Given the description of an element on the screen output the (x, y) to click on. 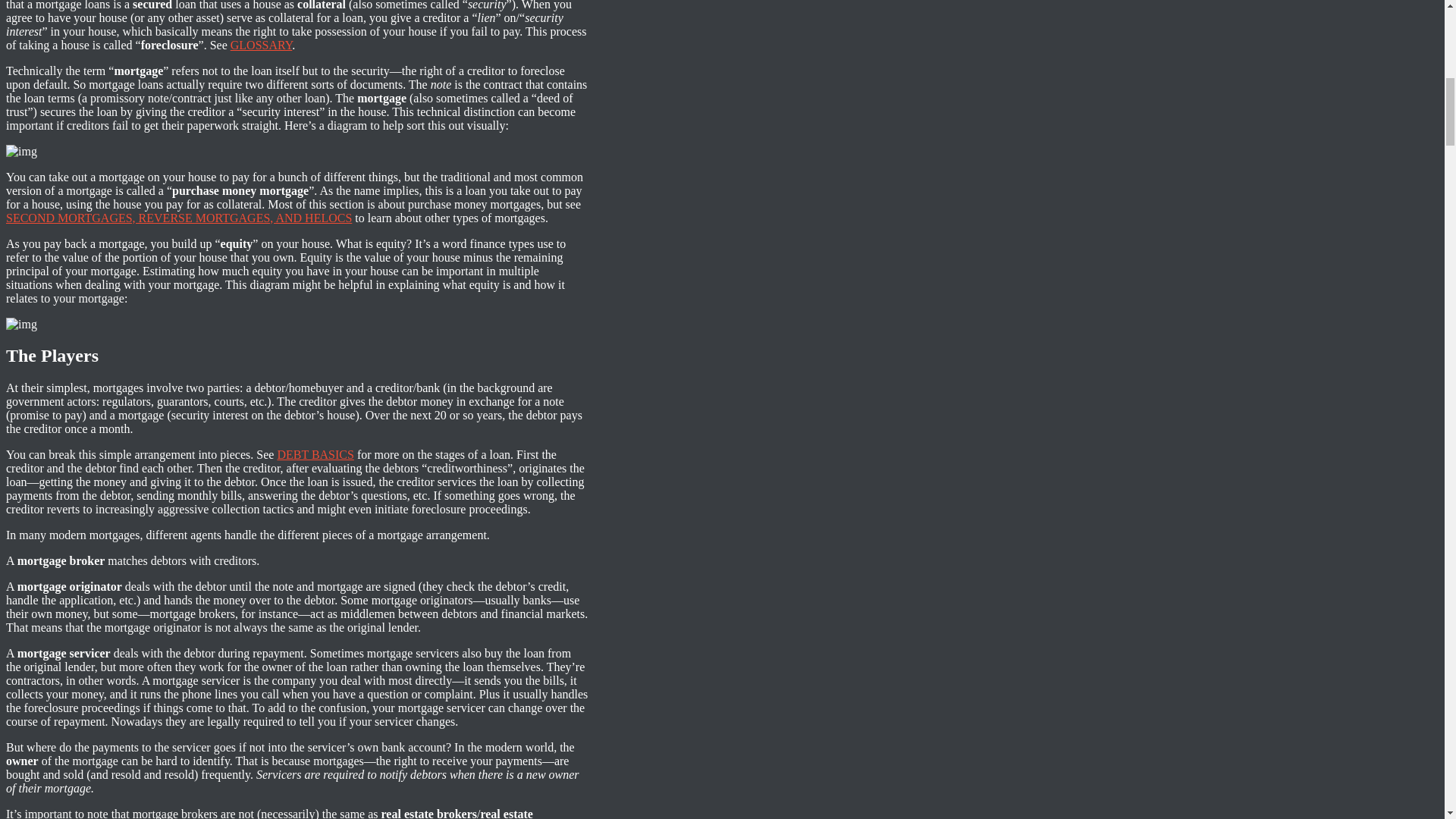
SECOND MORTGAGES, REVERSE MORTGAGES, AND HELOCS (178, 216)
GLOSSARY (261, 43)
DEBT BASICS (314, 454)
